Given the description of an element on the screen output the (x, y) to click on. 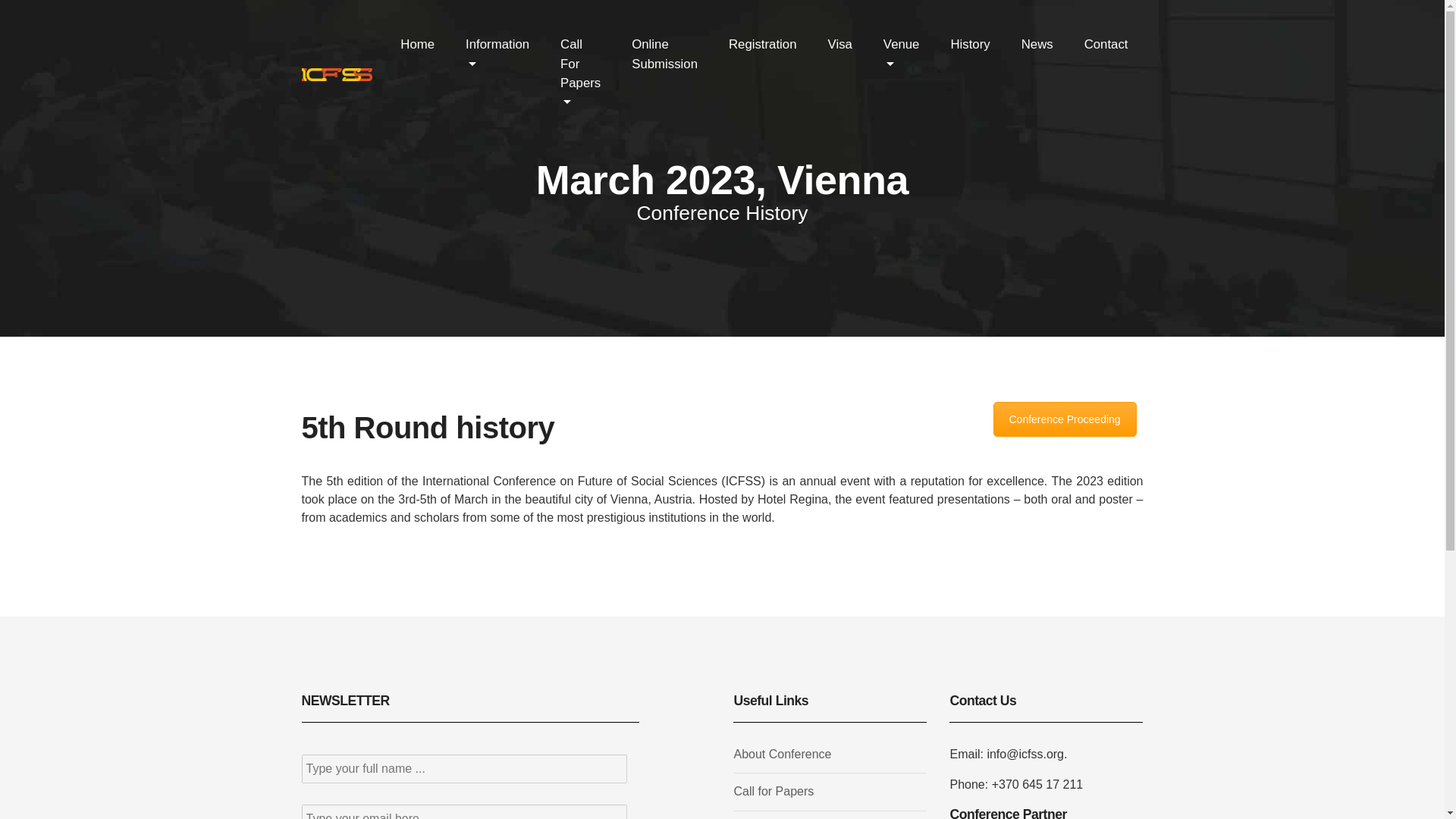
Home (417, 44)
News (1037, 44)
Home (417, 44)
Contact (1105, 44)
Registration (762, 44)
ICFSS (743, 481)
Venue (900, 54)
Online Submission (664, 54)
presentations (973, 499)
Information (496, 54)
